Given the description of an element on the screen output the (x, y) to click on. 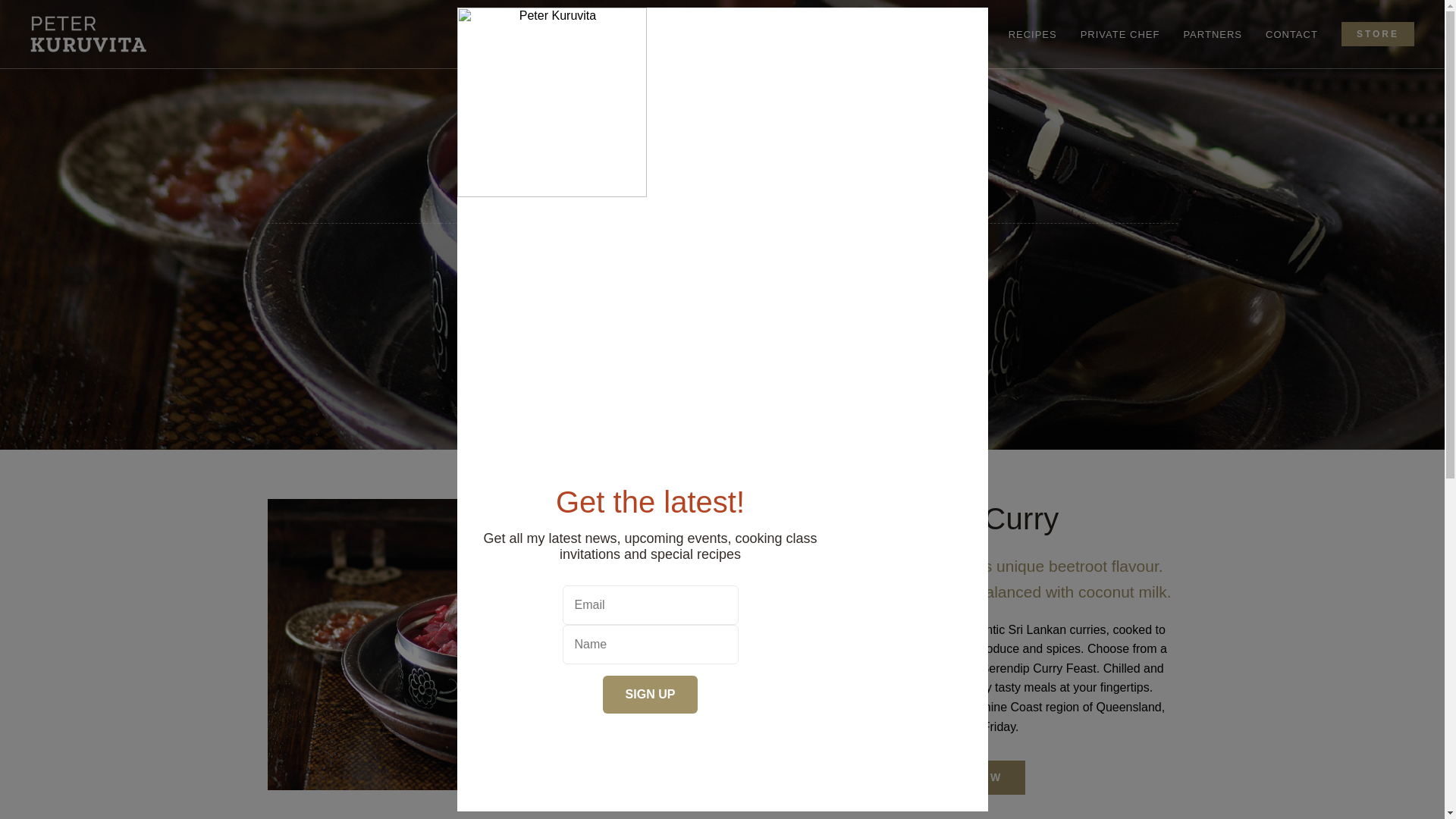
ABOUT (556, 33)
RECIPES (1033, 33)
PARTNERS (1211, 33)
PRIVATE CHEF (1120, 33)
STORE (1376, 33)
RESTAURANTS (768, 33)
CONTACT (1291, 33)
WORK WITH PETER (651, 33)
